Given the description of an element on the screen output the (x, y) to click on. 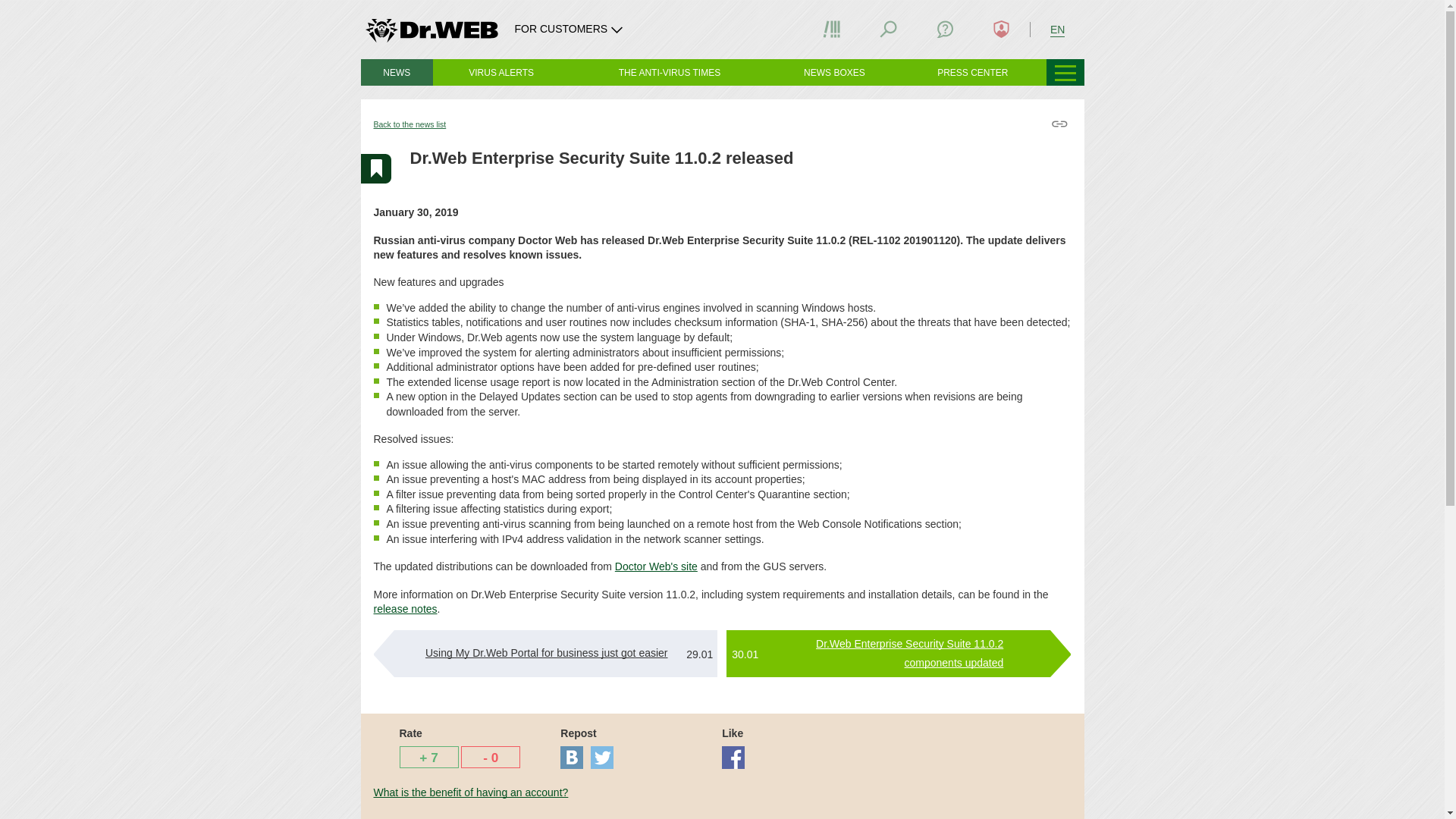
Search (888, 28)
Library (831, 28)
FOR CUSTOMERS (570, 28)
Contact us (944, 28)
Library (831, 28)
Profile (1001, 28)
Profile (1000, 28)
Dr.Web Enterprise Security Suite 11.0.2 components updated (909, 653)
Contact us (945, 28)
Using My Dr.Web Portal for business just got easier (546, 653)
Search (888, 28)
Other sections (1065, 71)
